Given the description of an element on the screen output the (x, y) to click on. 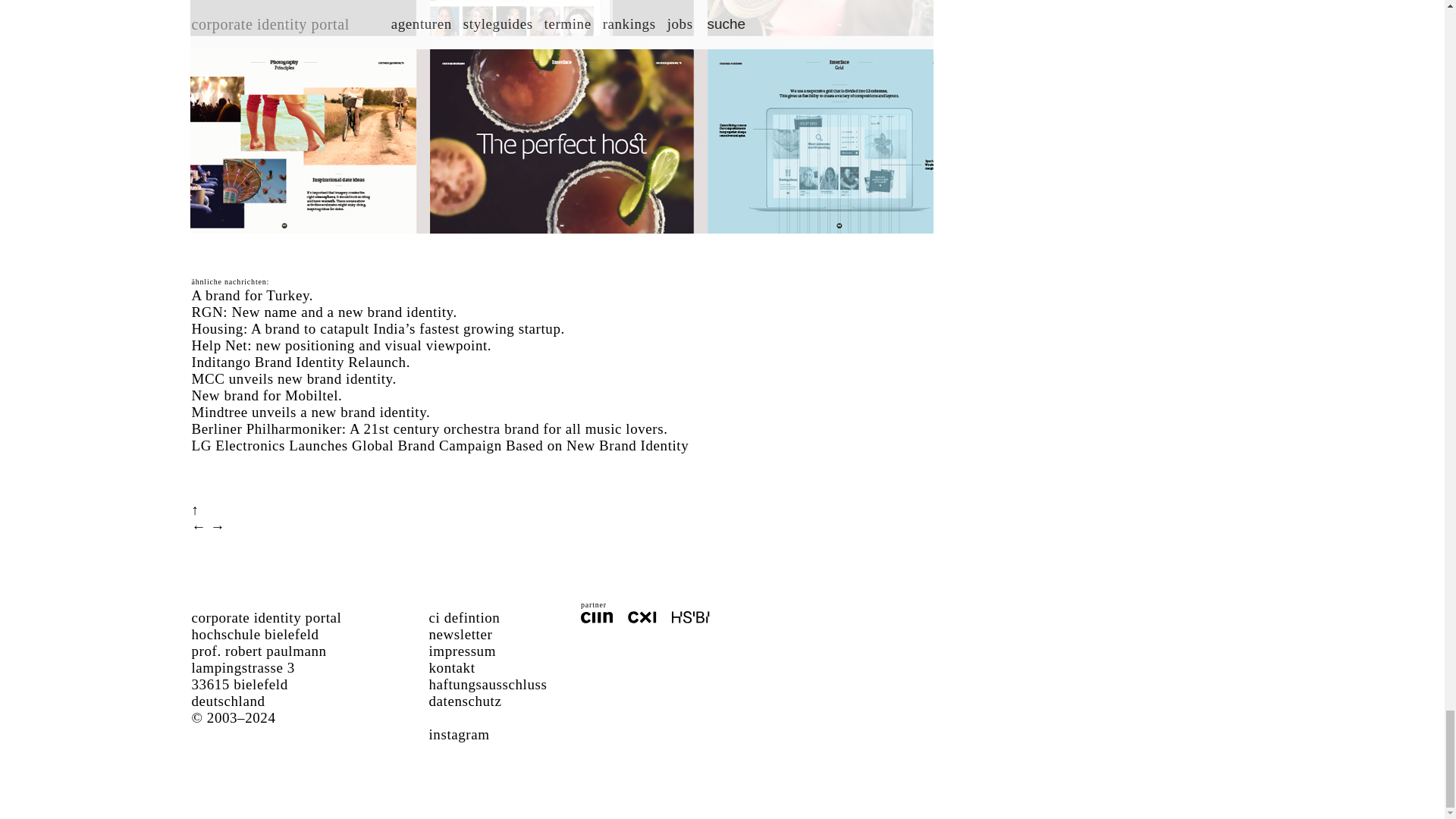
Help Net: new positioning and visual viewpoint. (341, 344)
instagram (459, 734)
Help Net: new positioning and visual viewpoint. (341, 344)
MCC unveils new brand identity. (293, 378)
impressum (462, 650)
kontakt (452, 667)
